Given the description of an element on the screen output the (x, y) to click on. 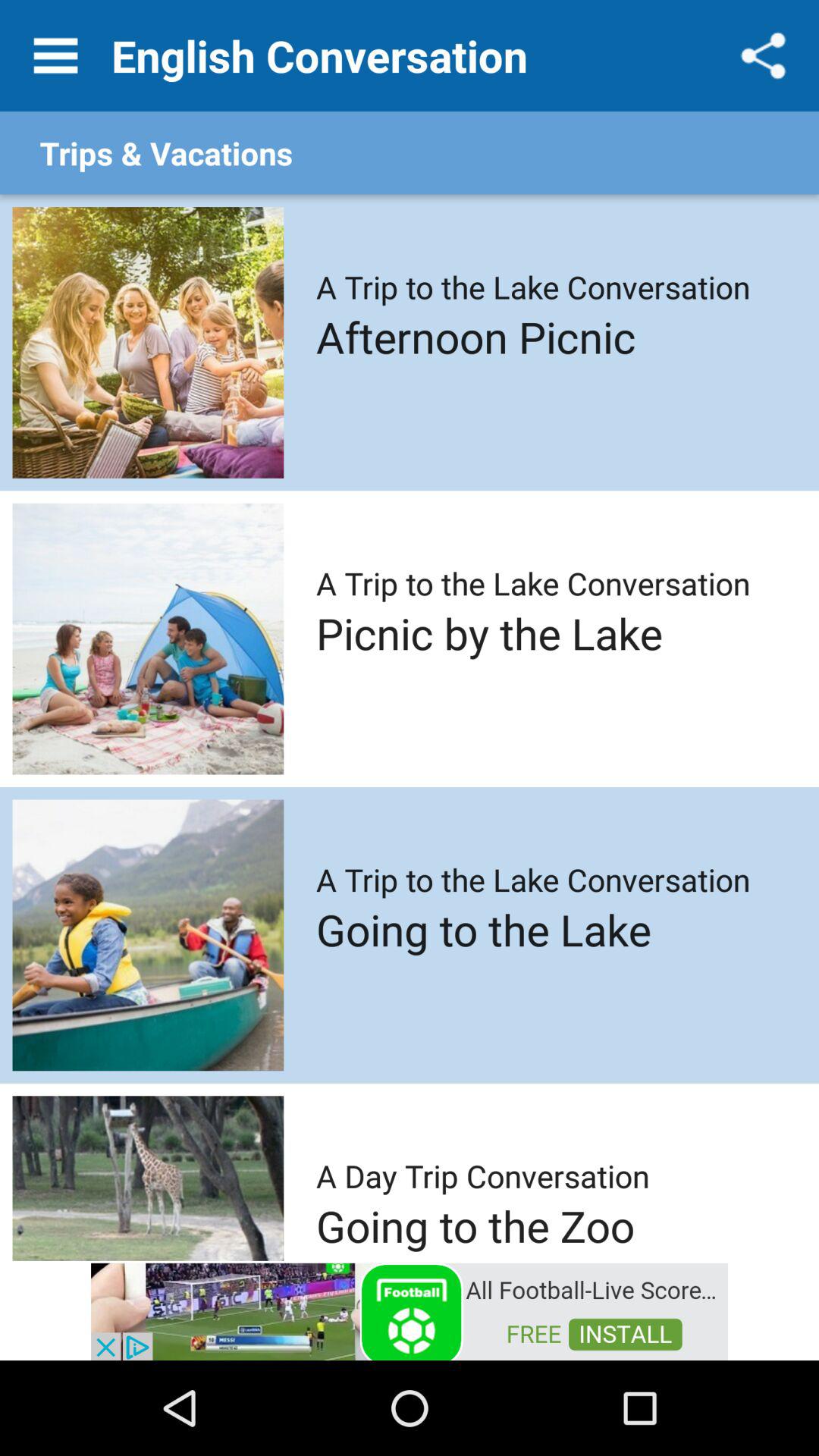
advertisement (409, 1310)
